Given the description of an element on the screen output the (x, y) to click on. 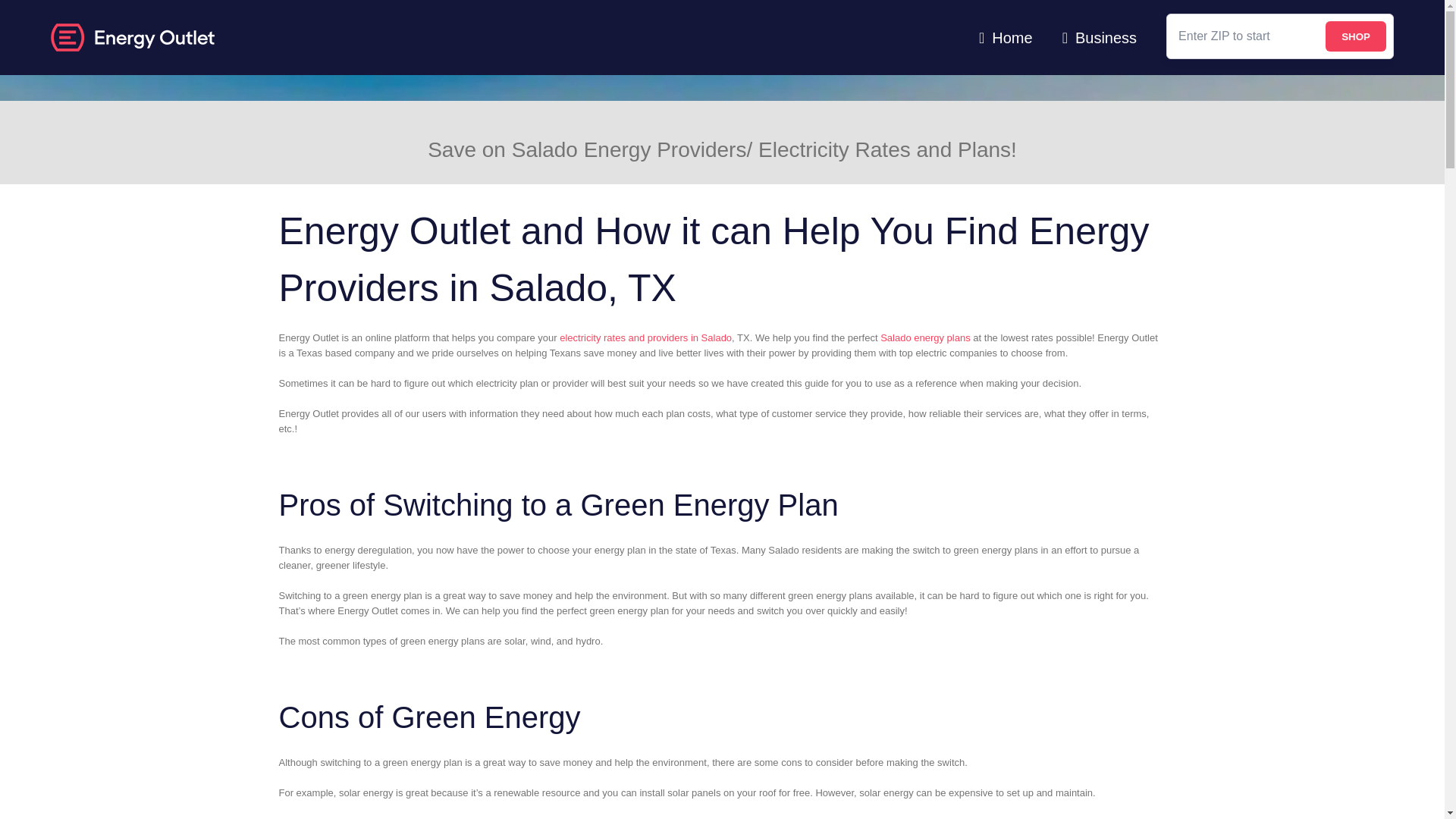
Salado energy plans (925, 337)
Commercial Energy Plans (1099, 37)
Business (1099, 37)
SHOP (1355, 36)
SHOP (1355, 36)
electricity rates and providers in Salado (645, 337)
